Given the description of an element on the screen output the (x, y) to click on. 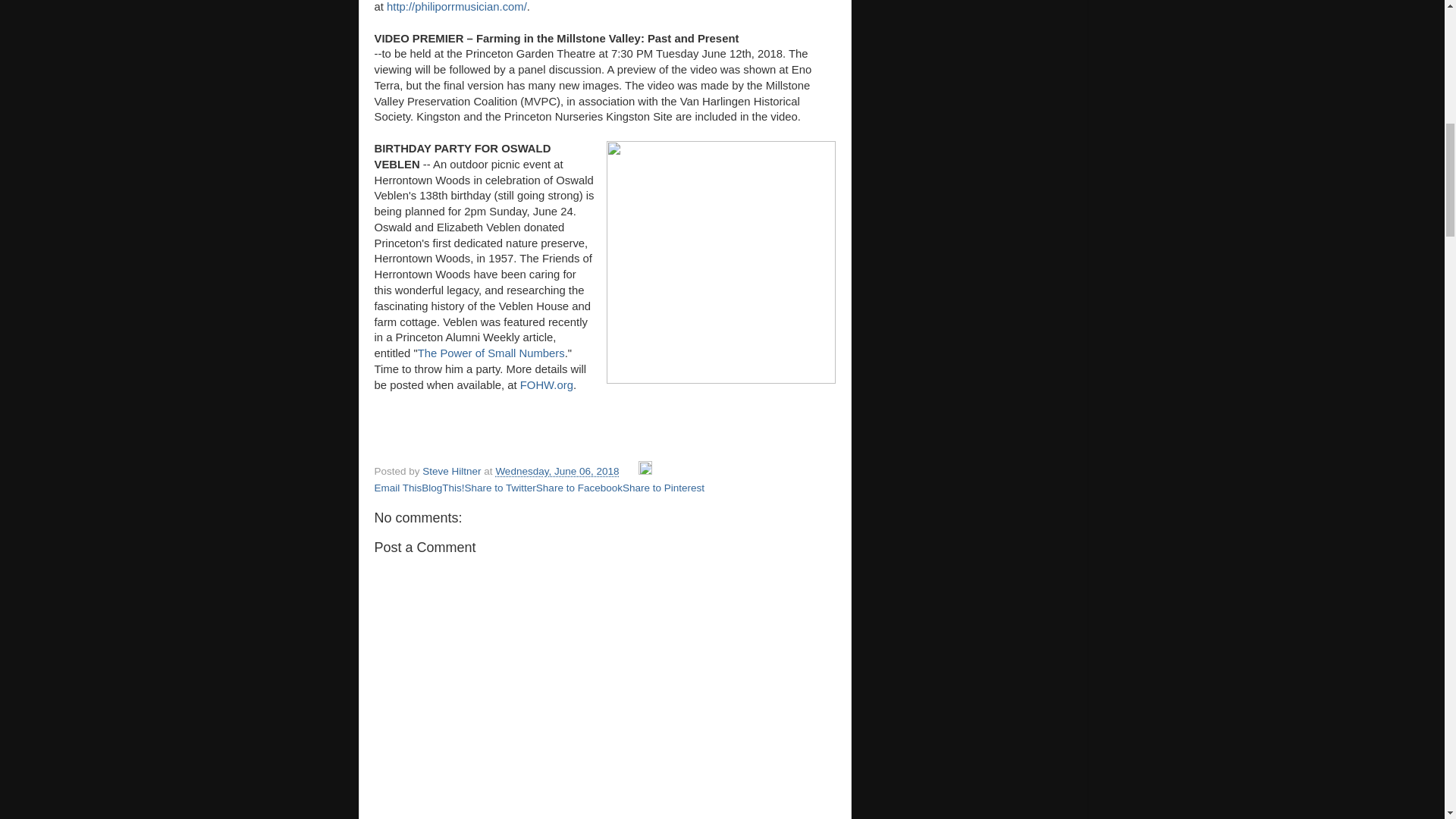
permanent link (556, 471)
Email This (398, 487)
Share to Twitter (499, 487)
Share to Pinterest (663, 487)
Share to Pinterest (663, 487)
FOHW.org (546, 385)
Email This (398, 487)
Wednesday, June 06, 2018 (556, 471)
Steve Hiltner (452, 471)
Share to Twitter (499, 487)
Email Post (630, 471)
BlogThis! (443, 487)
author profile (452, 471)
Share to Facebook (579, 487)
Edit Post (645, 471)
